Given the description of an element on the screen output the (x, y) to click on. 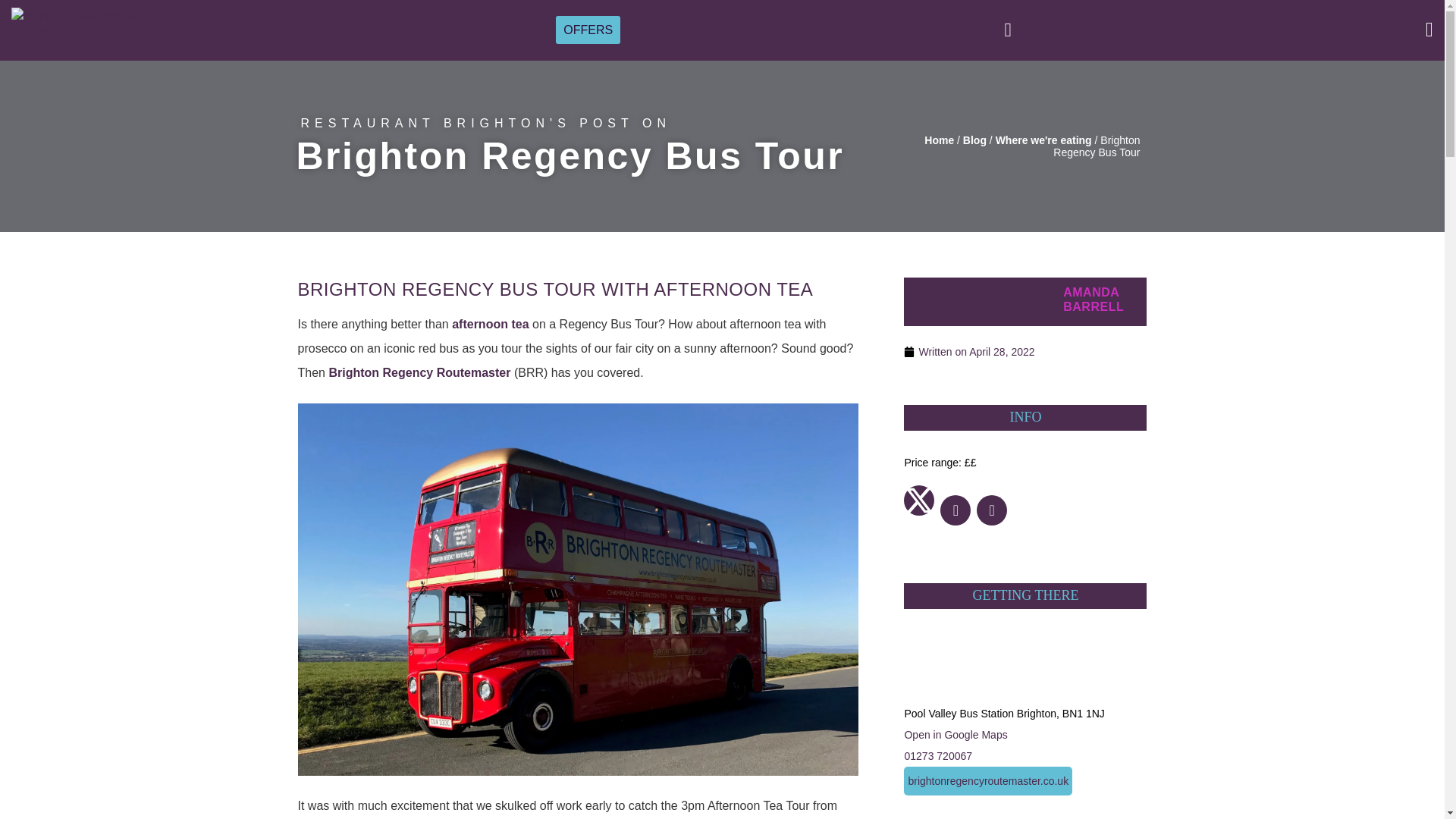
OFFERS (588, 29)
